Given the description of an element on the screen output the (x, y) to click on. 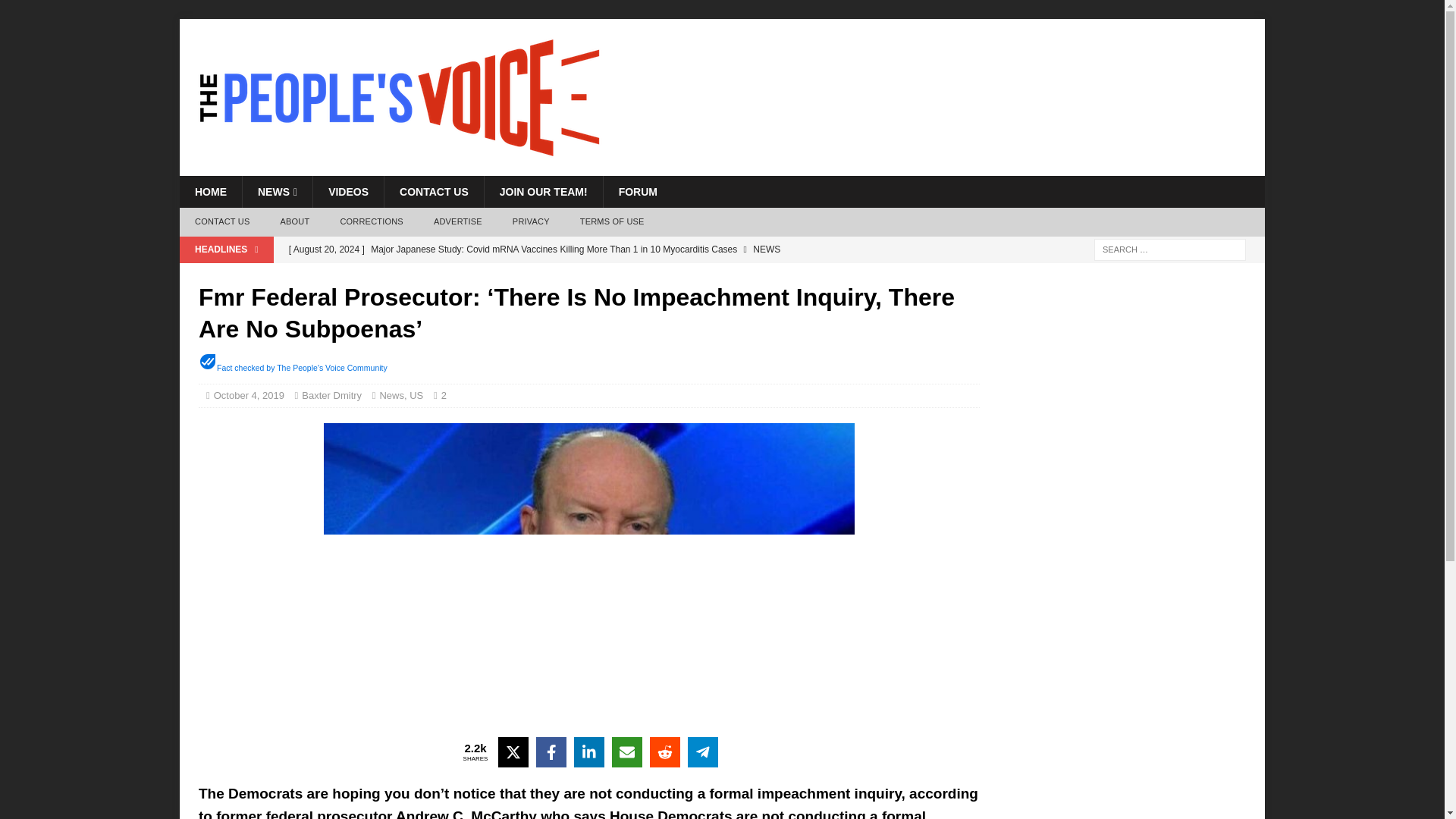
HOME (210, 192)
CORRECTIONS (370, 222)
News (391, 395)
ADVERTISE (458, 222)
ABOUT (294, 222)
TERMS OF USE (611, 222)
CONTACT US (221, 222)
Search (56, 11)
